Given the description of an element on the screen output the (x, y) to click on. 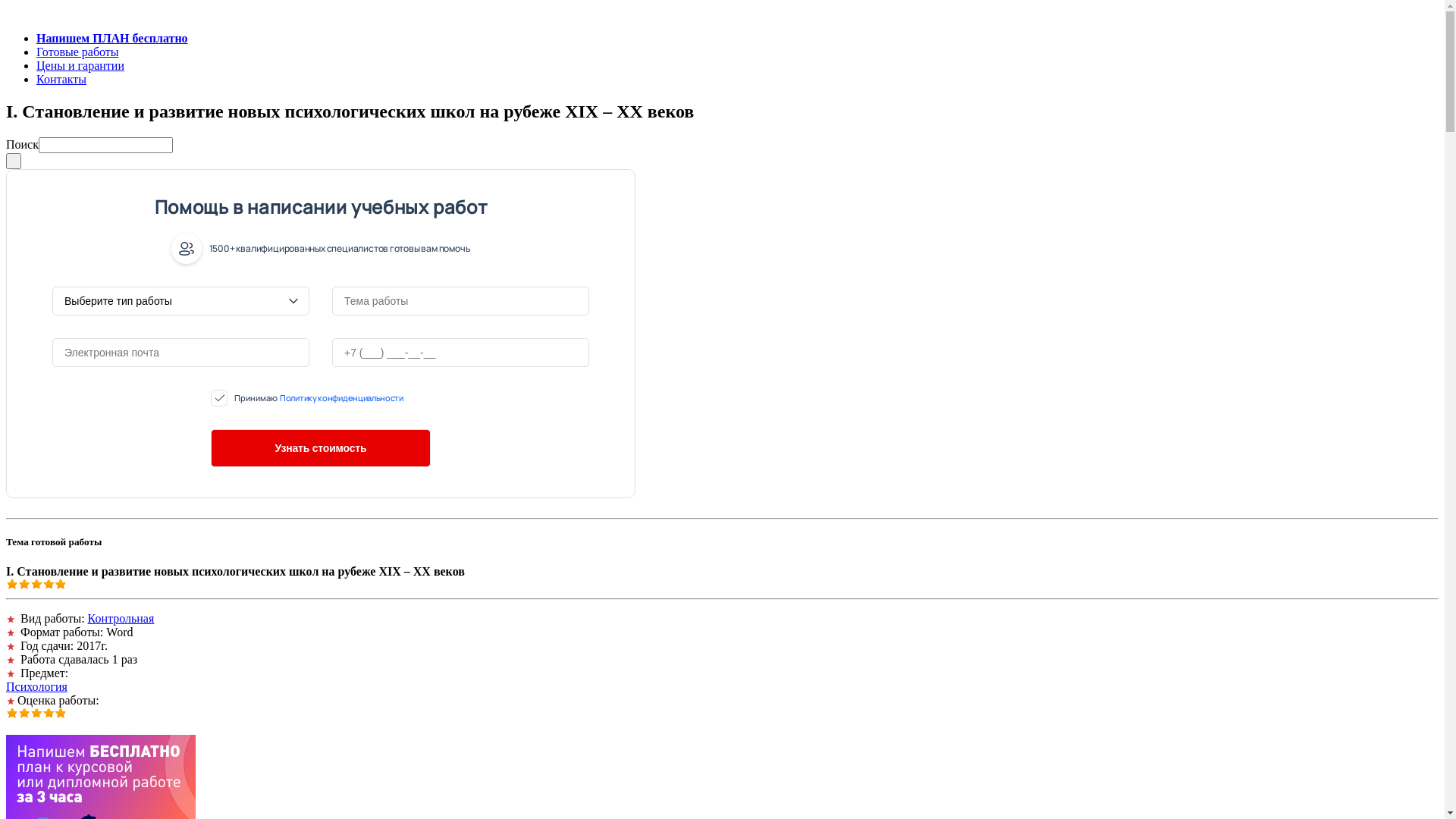
  Element type: text (13, 161)
